Given the description of an element on the screen output the (x, y) to click on. 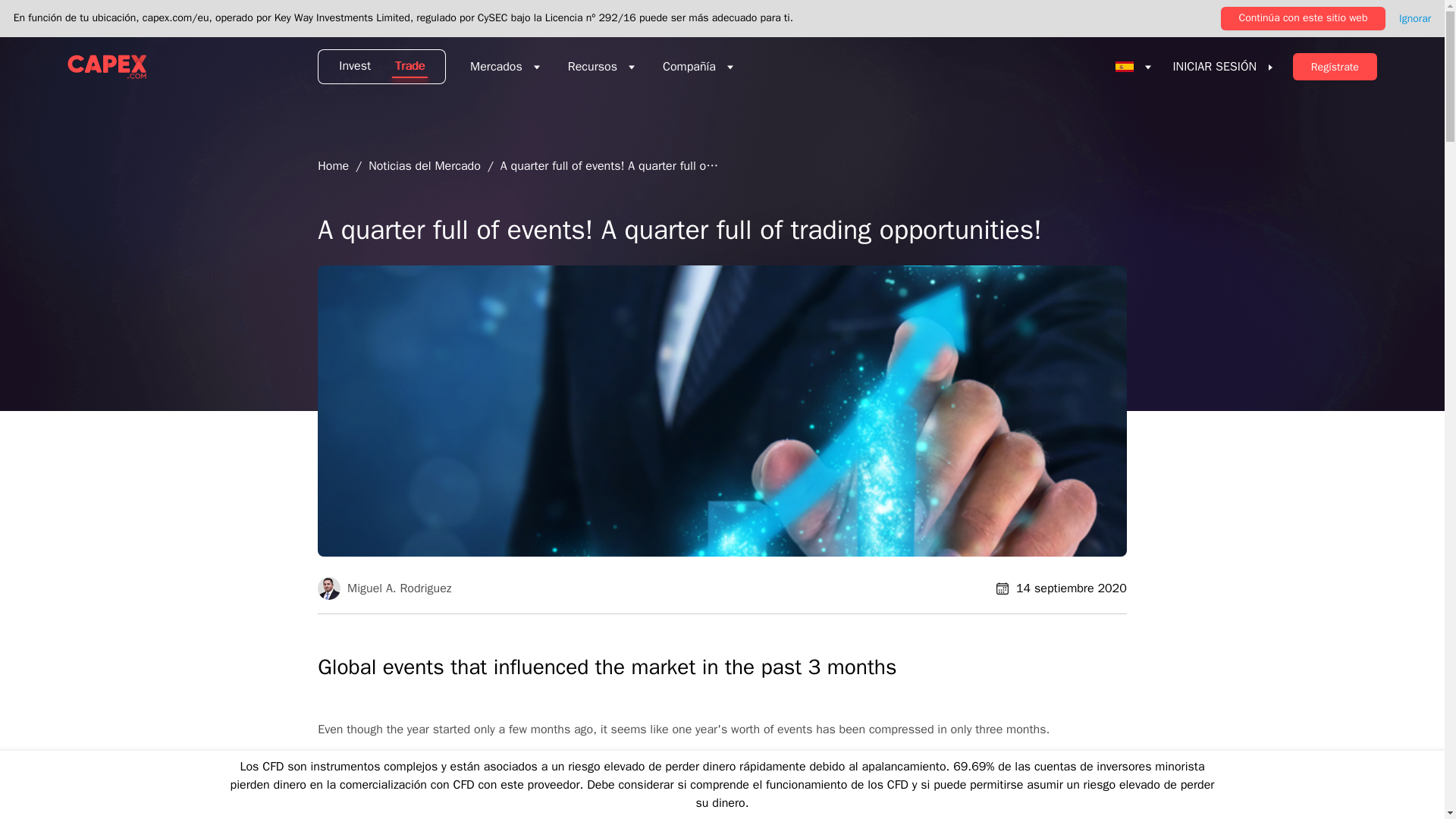
Invest (349, 67)
Ignorar (1415, 18)
Trade (413, 67)
CAPEX.com (106, 66)
